Given the description of an element on the screen output the (x, y) to click on. 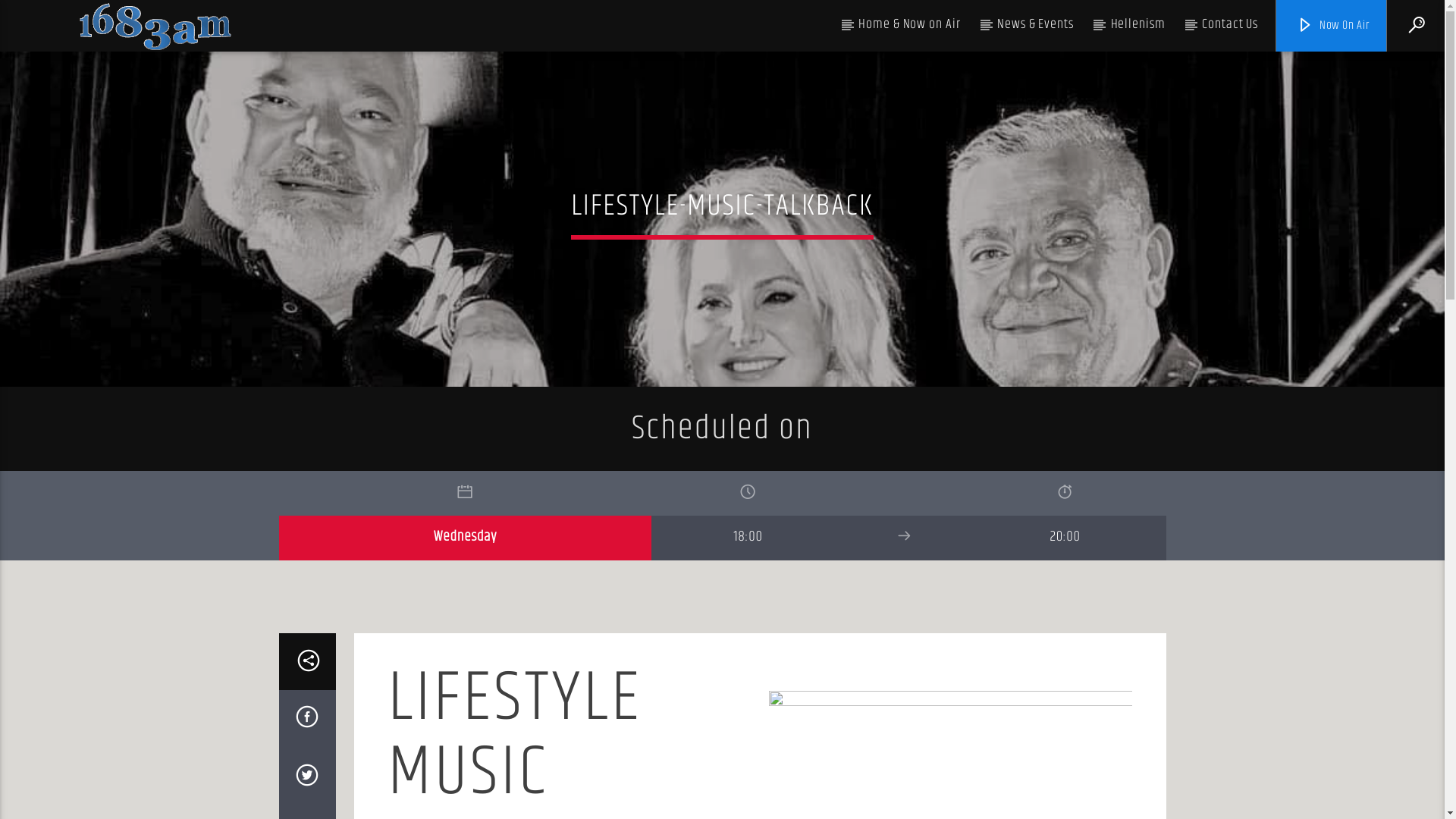
Hellenism Element type: text (1137, 24)
Search Element type: text (1203, 75)
News & Events Element type: text (1035, 24)
Home & Now on Air Element type: text (909, 24)
Now On Air Element type: text (1331, 25)
Contact Us Element type: text (1230, 24)
